Given the description of an element on the screen output the (x, y) to click on. 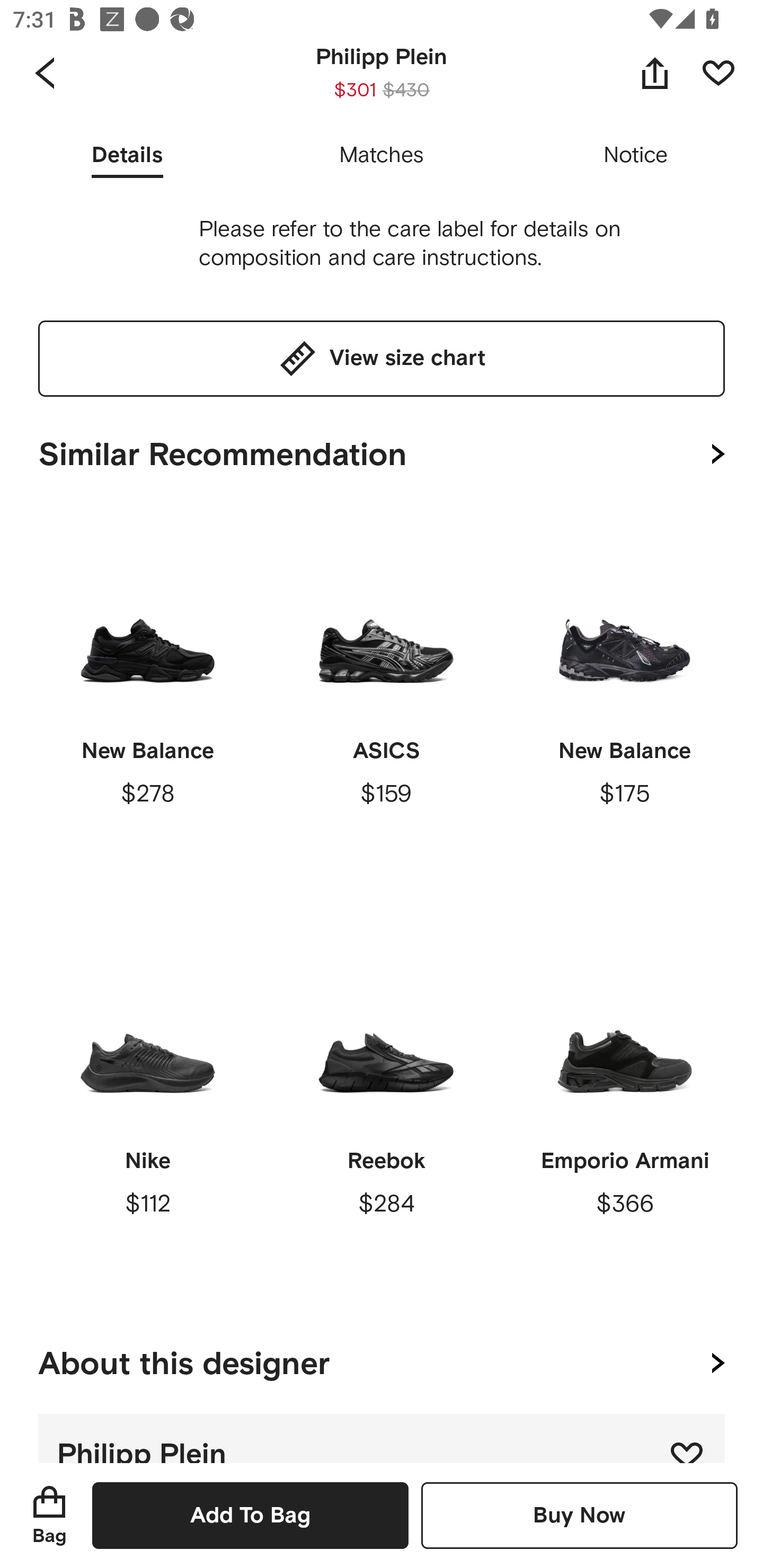
Matches (381, 155)
Notice (635, 155)
 View size chart (381, 357)
Similar Recommendation (381, 450)
New Balance $278 (147, 699)
ASICS $159 (385, 699)
New Balance $175 (624, 699)
Nike $112 (147, 1110)
Reebok $284 (385, 1110)
Emporio Armani $366 (624, 1110)
About this designer (381, 1360)
Philipp Plein (381, 1438)
Bag (49, 1515)
Add To Bag (250, 1515)
Buy Now (579, 1515)
